Given the description of an element on the screen output the (x, y) to click on. 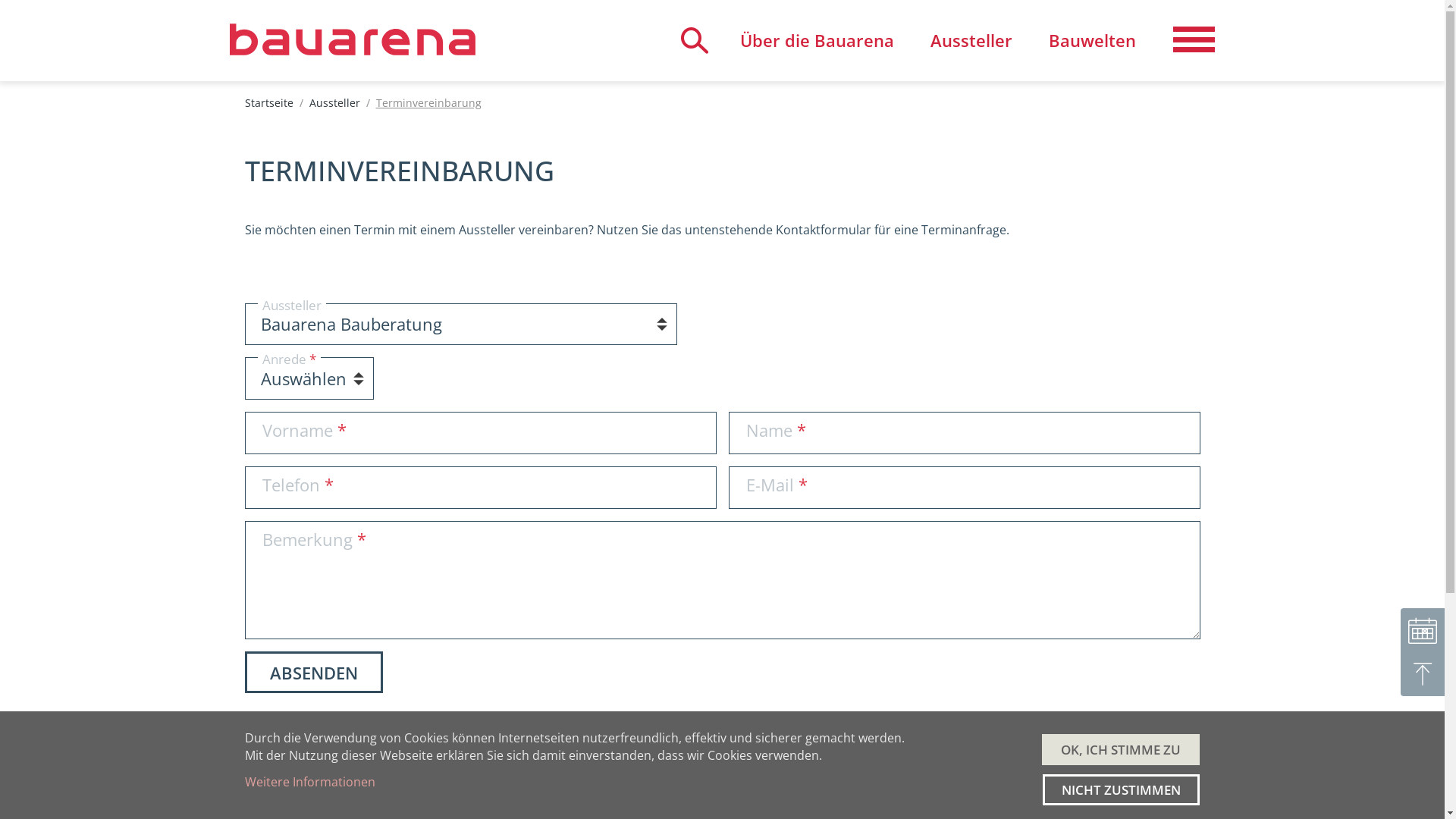
Suche Element type: text (1066, 58)
Back to home Element type: hover (351, 39)
Bauwelten Element type: text (1091, 40)
OK, ICH STIMME ZU Element type: text (1120, 749)
Direkt zum Inhalt Element type: text (0, 0)
Startseite Element type: text (268, 102)
Toggle Search Element type: text (694, 40)
NICHT ZUSTIMMEN Element type: text (1120, 789)
Weitere Informationen Element type: text (309, 781)
Aussteller Element type: text (334, 102)
Aussteller Element type: text (970, 40)
Absenden Element type: text (313, 672)
